Given the description of an element on the screen output the (x, y) to click on. 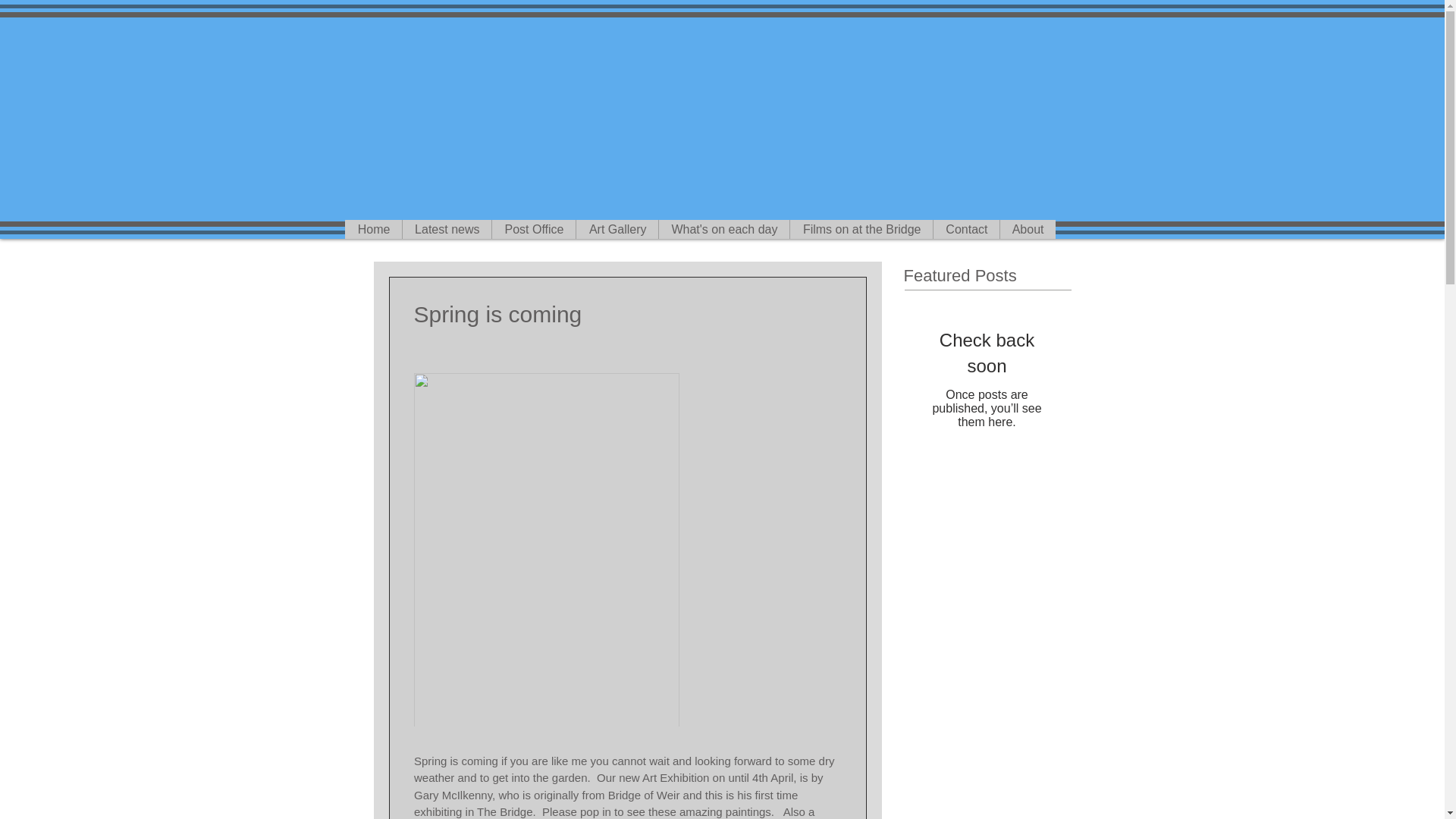
What's on each day (723, 229)
Home (372, 229)
Post Office (533, 229)
Art Gallery (616, 229)
Latest news (446, 229)
About (1026, 229)
Contact (965, 229)
Films on at the Bridge (860, 229)
